Given the description of an element on the screen output the (x, y) to click on. 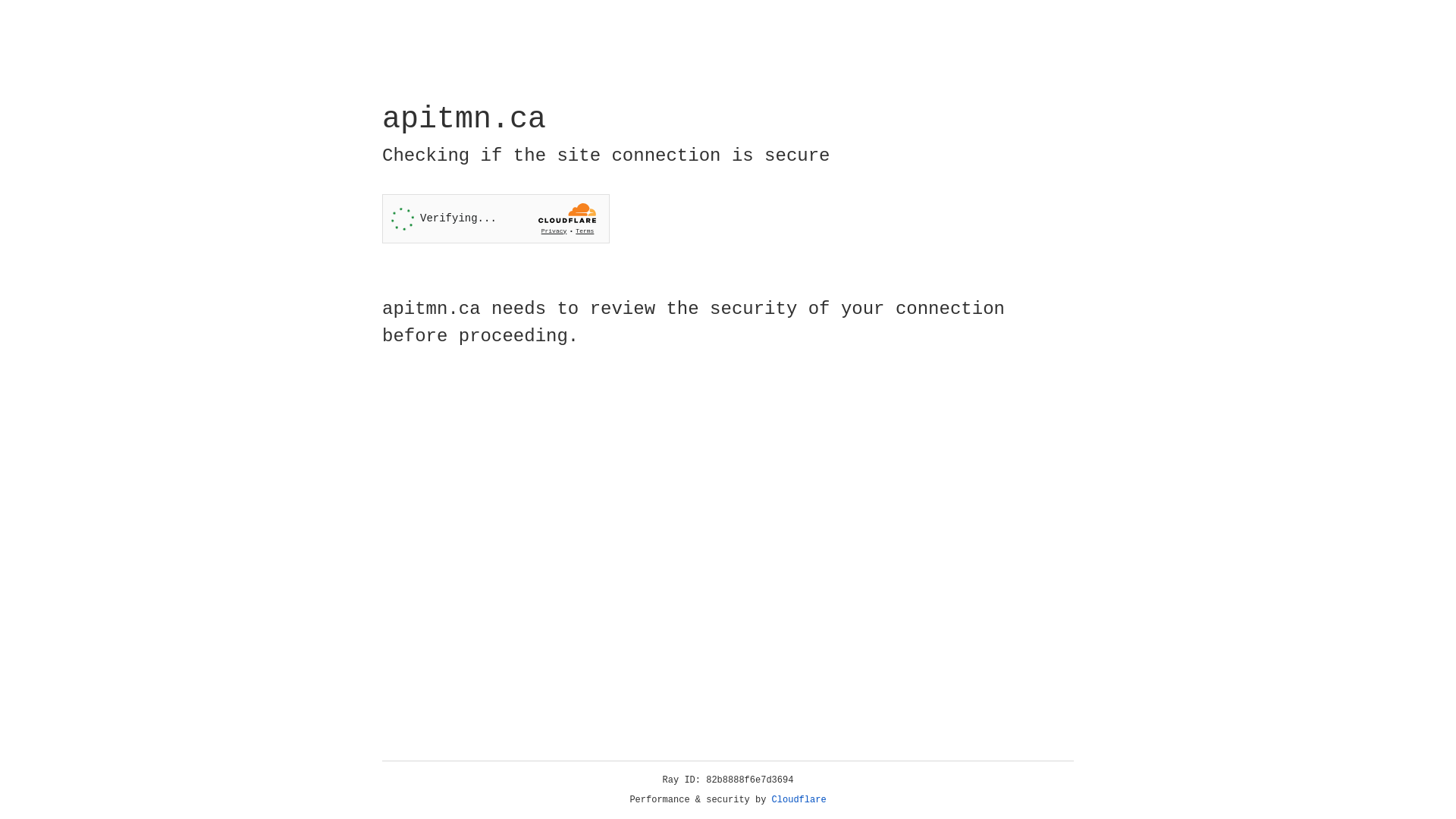
Cloudflare Element type: text (798, 799)
Widget containing a Cloudflare security challenge Element type: hover (495, 218)
